Given the description of an element on the screen output the (x, y) to click on. 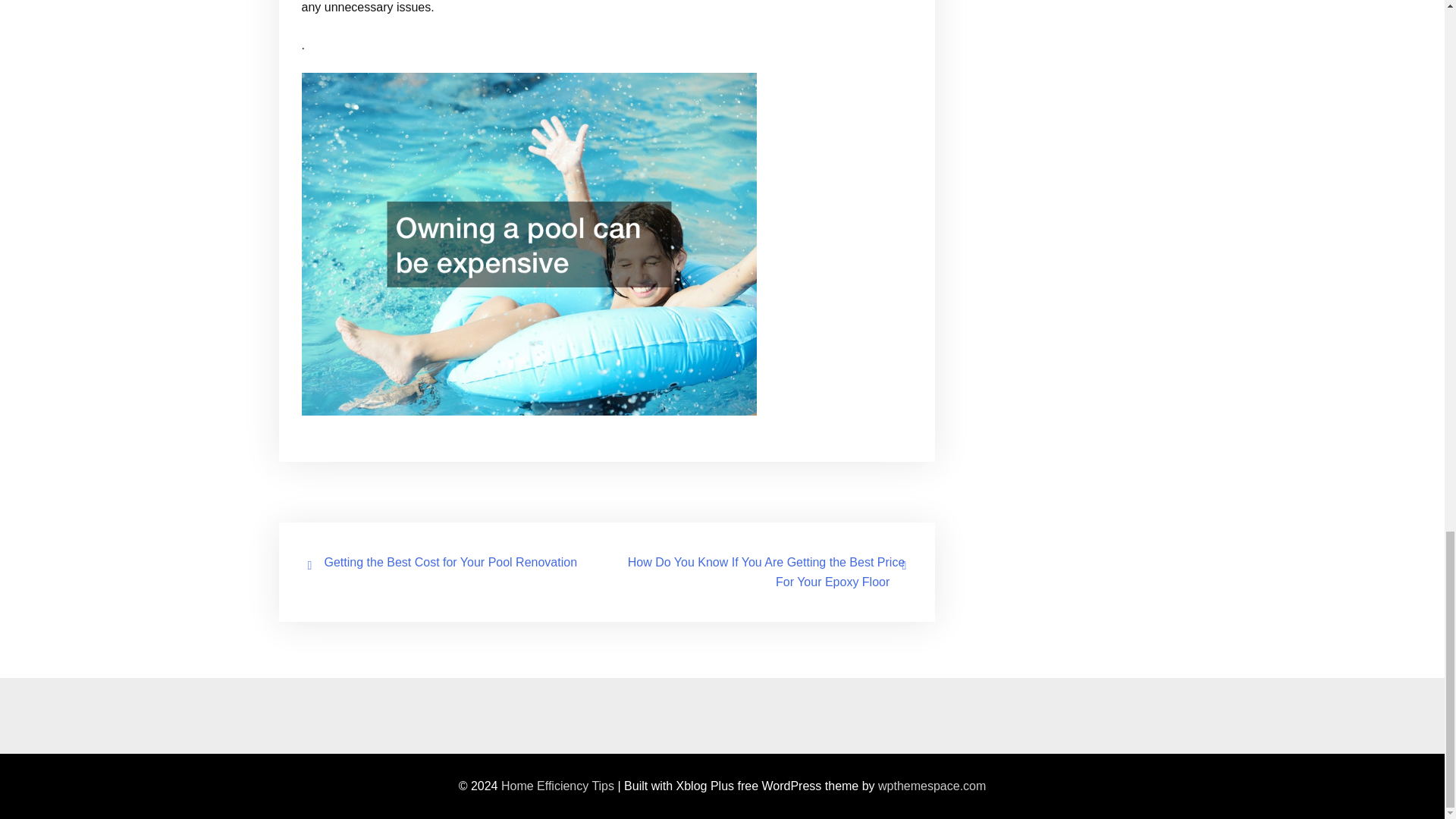
wpthemespace.com (931, 786)
Getting the Best Cost for Your Pool Renovation (451, 562)
Home Efficiency Tips (557, 786)
